Given the description of an element on the screen output the (x, y) to click on. 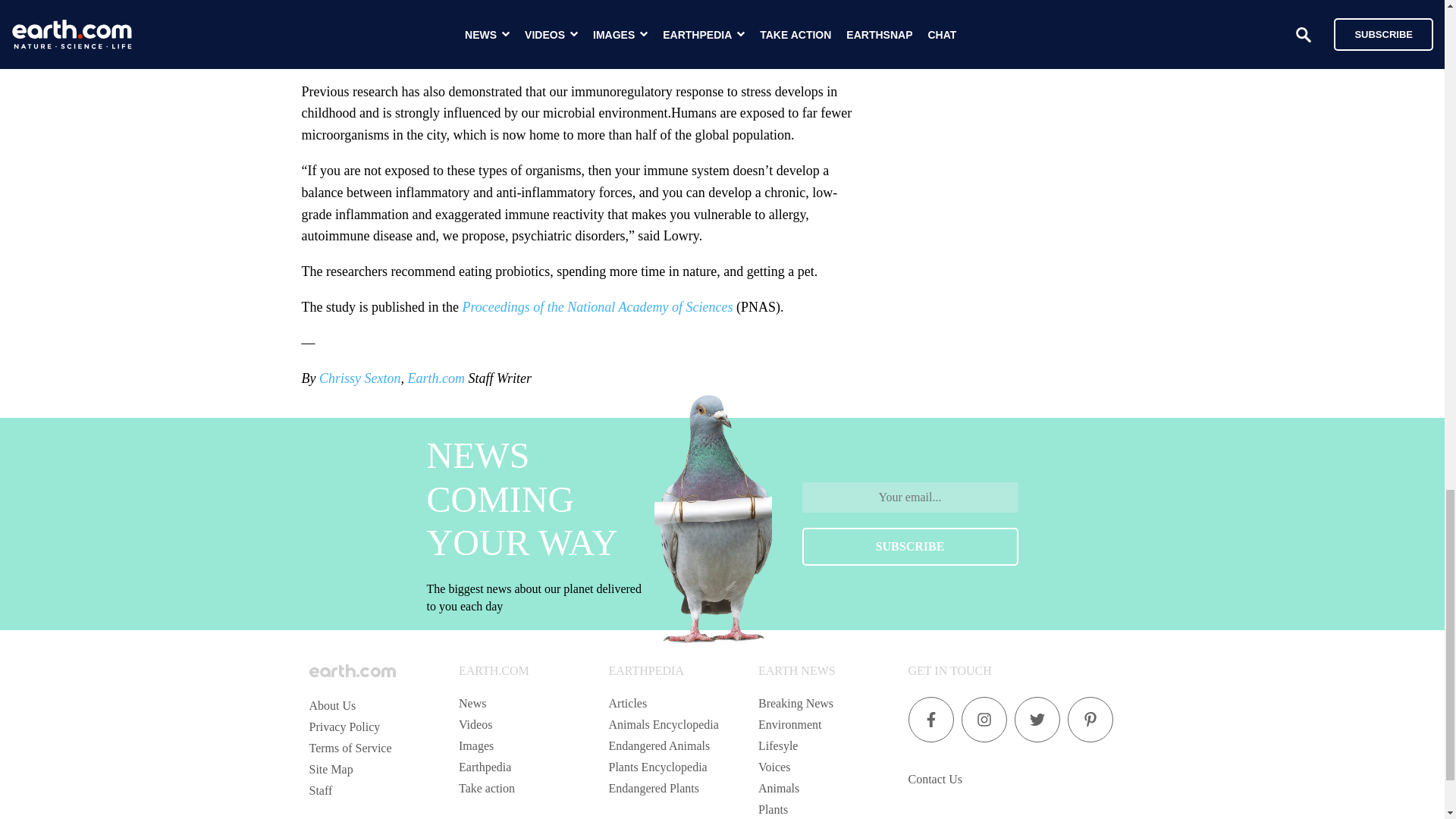
Earth.com (435, 378)
Proceedings of the National Academy of Sciences (596, 306)
Chrissy Sexton (359, 378)
